Given the description of an element on the screen output the (x, y) to click on. 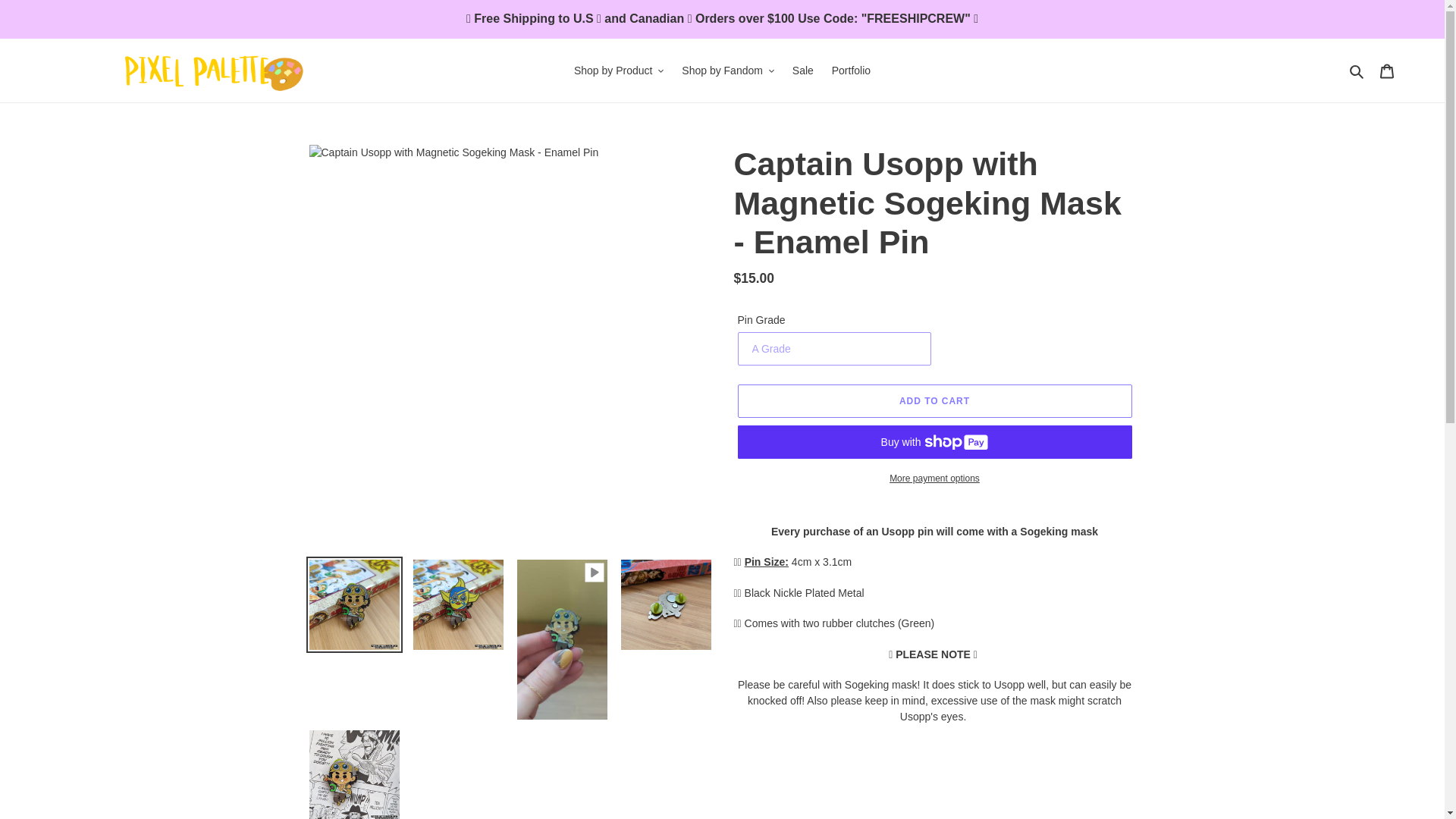
Shop by Fandom (727, 70)
Shop by Product (618, 70)
